Given the description of an element on the screen output the (x, y) to click on. 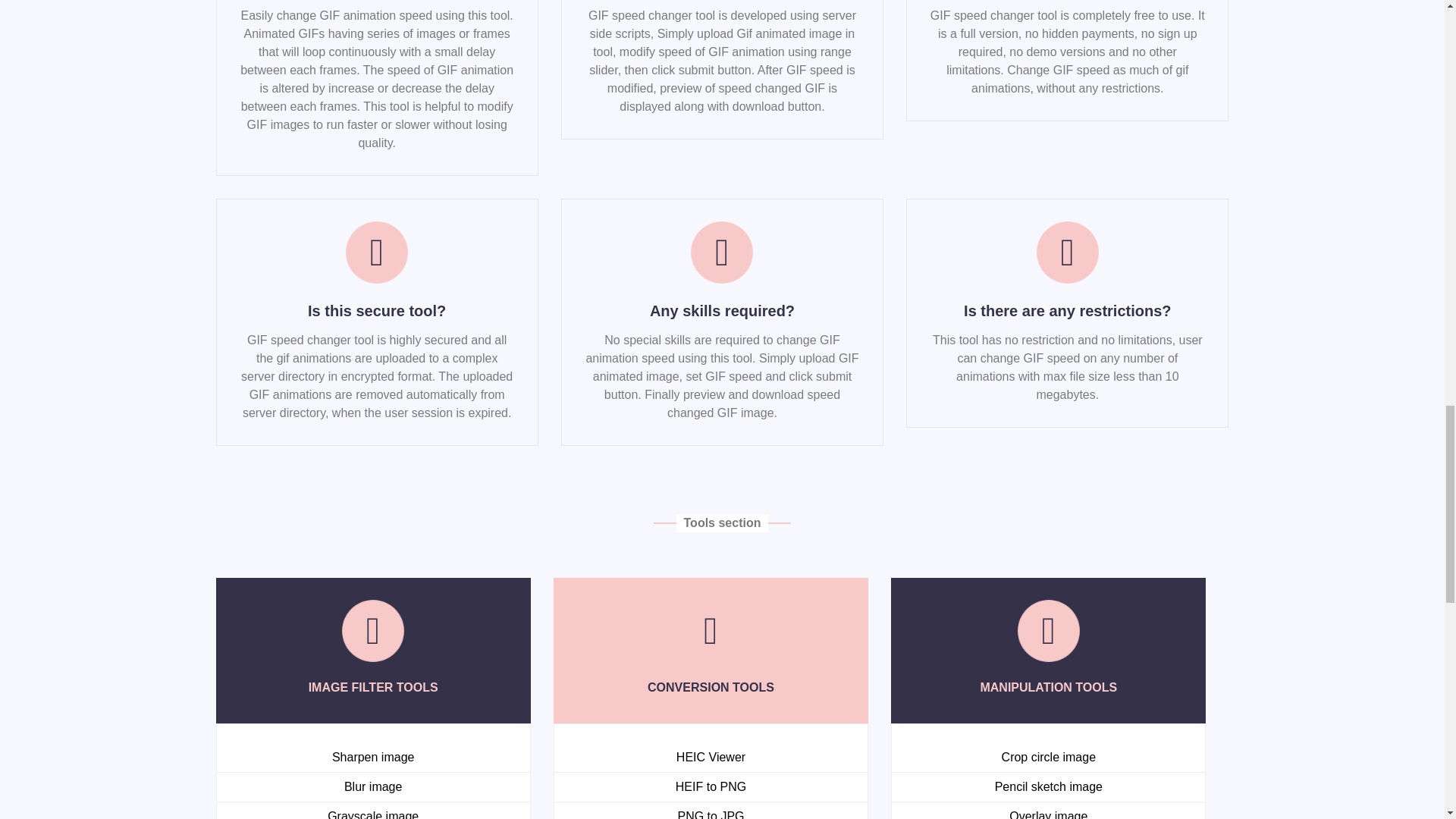
HEIC Viewer (711, 757)
Grayscale image (373, 814)
HEIF to PNG (710, 786)
Sharpen image (372, 757)
Crop circle image (1048, 757)
Pencil sketch image (1048, 786)
Overlay image (1048, 814)
Blur image (372, 786)
PNG to JPG (710, 814)
